Given the description of an element on the screen output the (x, y) to click on. 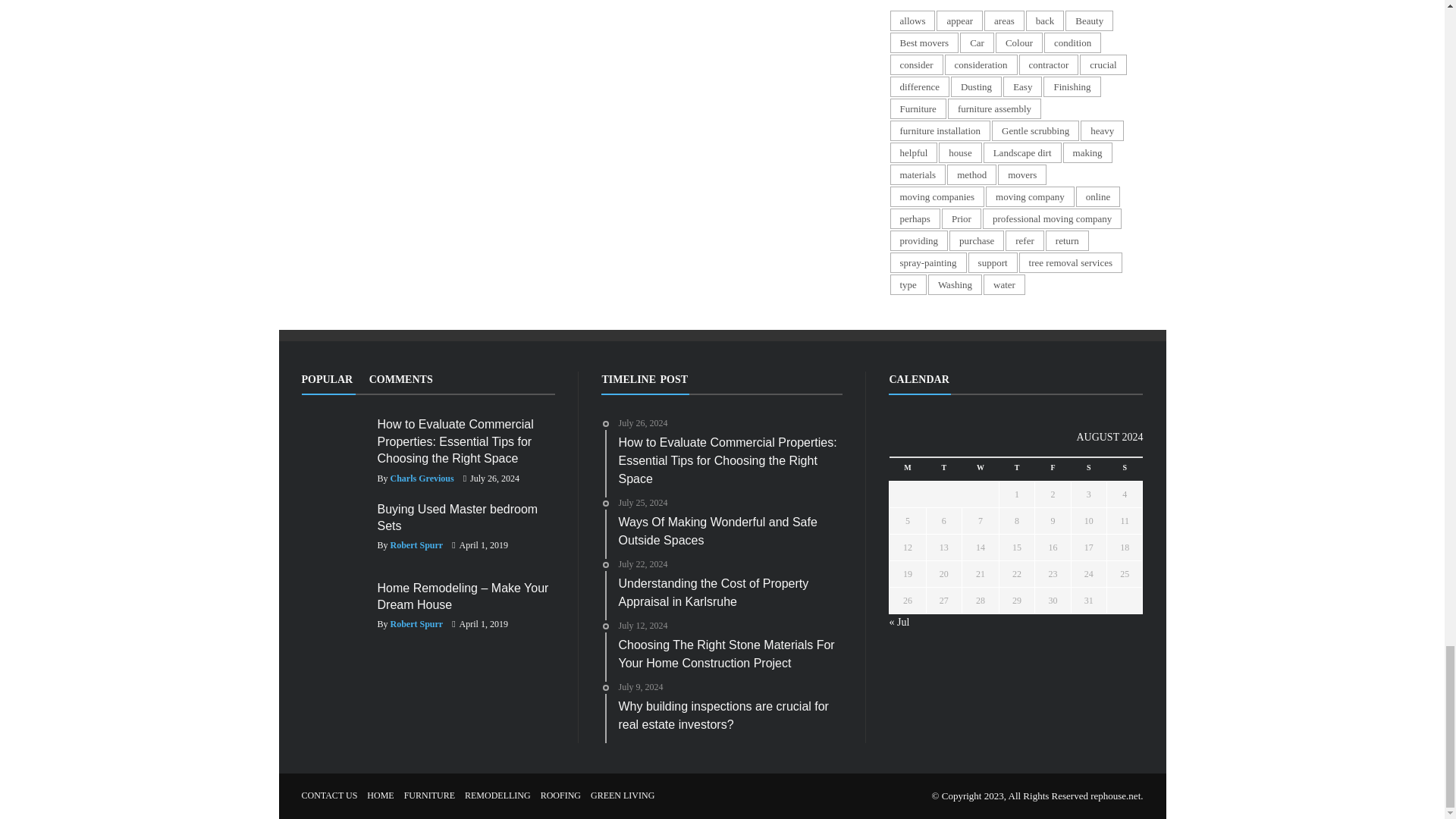
Wednesday (979, 469)
Tuesday (943, 469)
Friday (1052, 469)
Sunday (1124, 469)
Saturday (1088, 469)
Monday (907, 469)
Thursday (1015, 469)
